Given the description of an element on the screen output the (x, y) to click on. 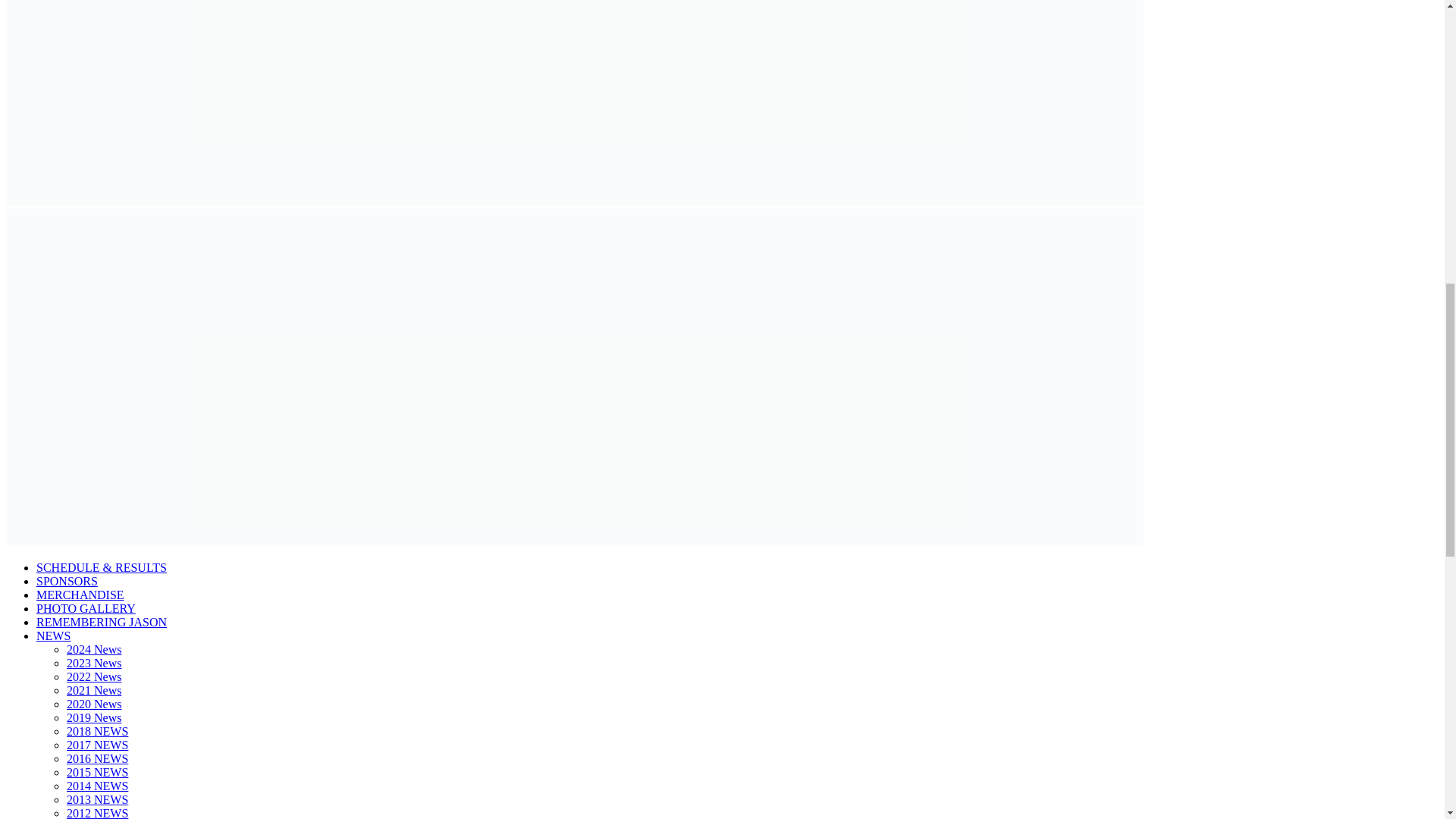
2022 News (93, 676)
2016 NEWS (97, 758)
2014 NEWS (97, 785)
2015 NEWS (97, 771)
2024 News (93, 649)
2018 NEWS (97, 730)
2023 News (93, 662)
MERCHANDISE (79, 594)
2012 NEWS (97, 812)
2019 News (93, 717)
PHOTO GALLERY (85, 608)
SPONSORS (66, 581)
2013 NEWS (97, 799)
2020 News (93, 703)
